Given the description of an element on the screen output the (x, y) to click on. 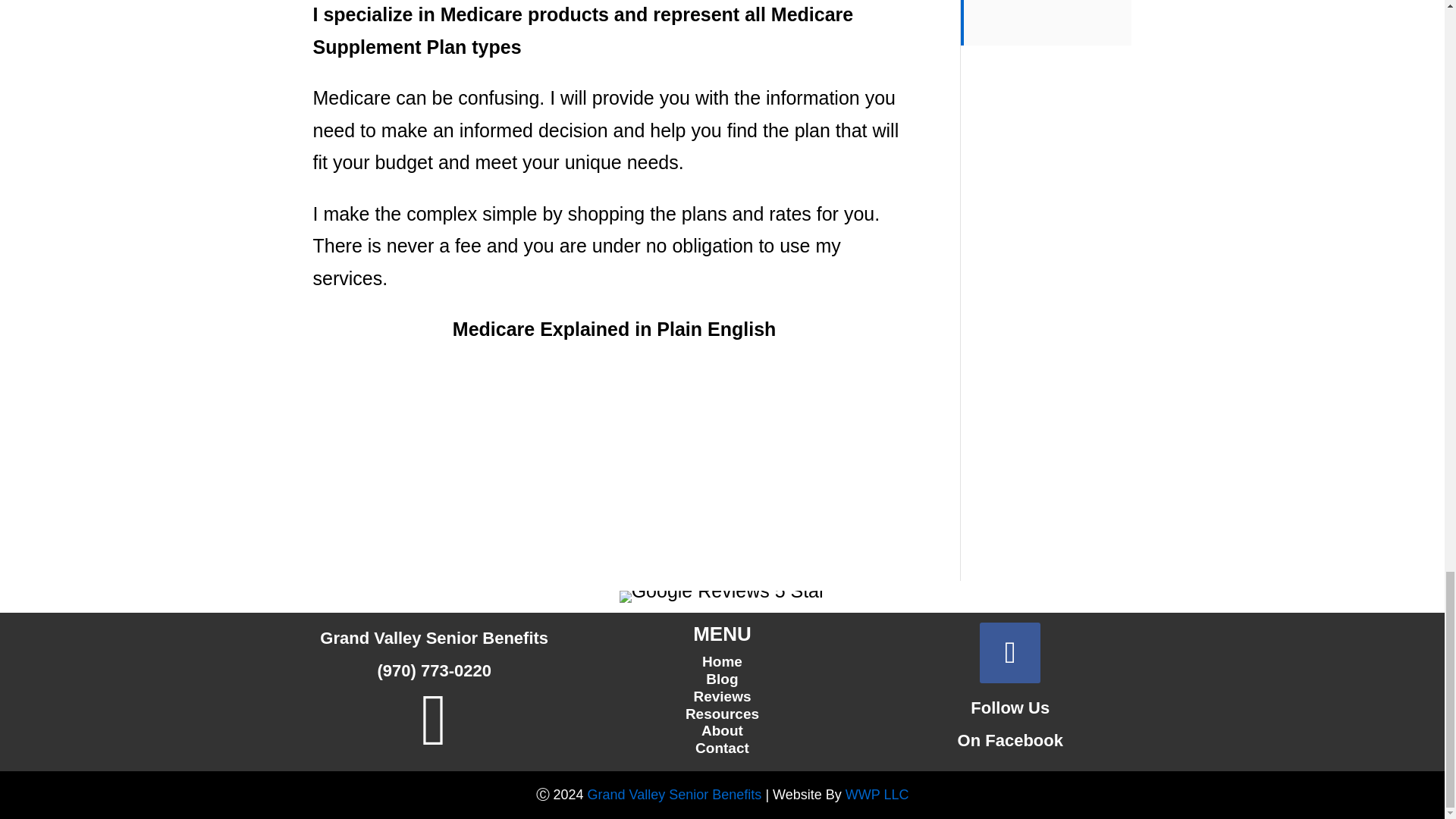
Google Reviews 5 Star (722, 596)
Medicare Insurance Representative (674, 794)
Follow on Facebook (1010, 652)
